Given the description of an element on the screen output the (x, y) to click on. 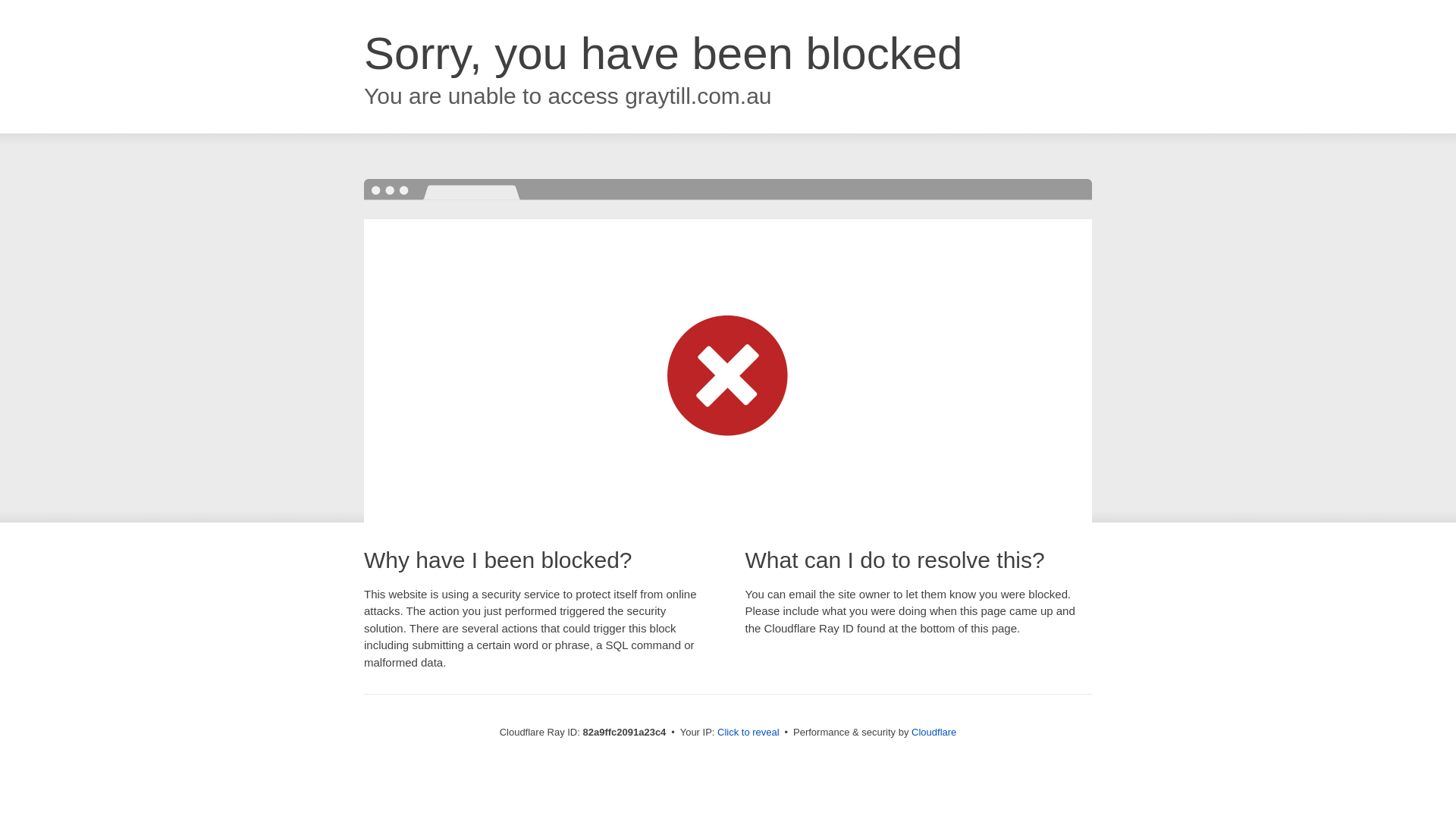
Click to reveal Element type: text (748, 732)
Cloudflare Element type: text (933, 731)
